Given the description of an element on the screen output the (x, y) to click on. 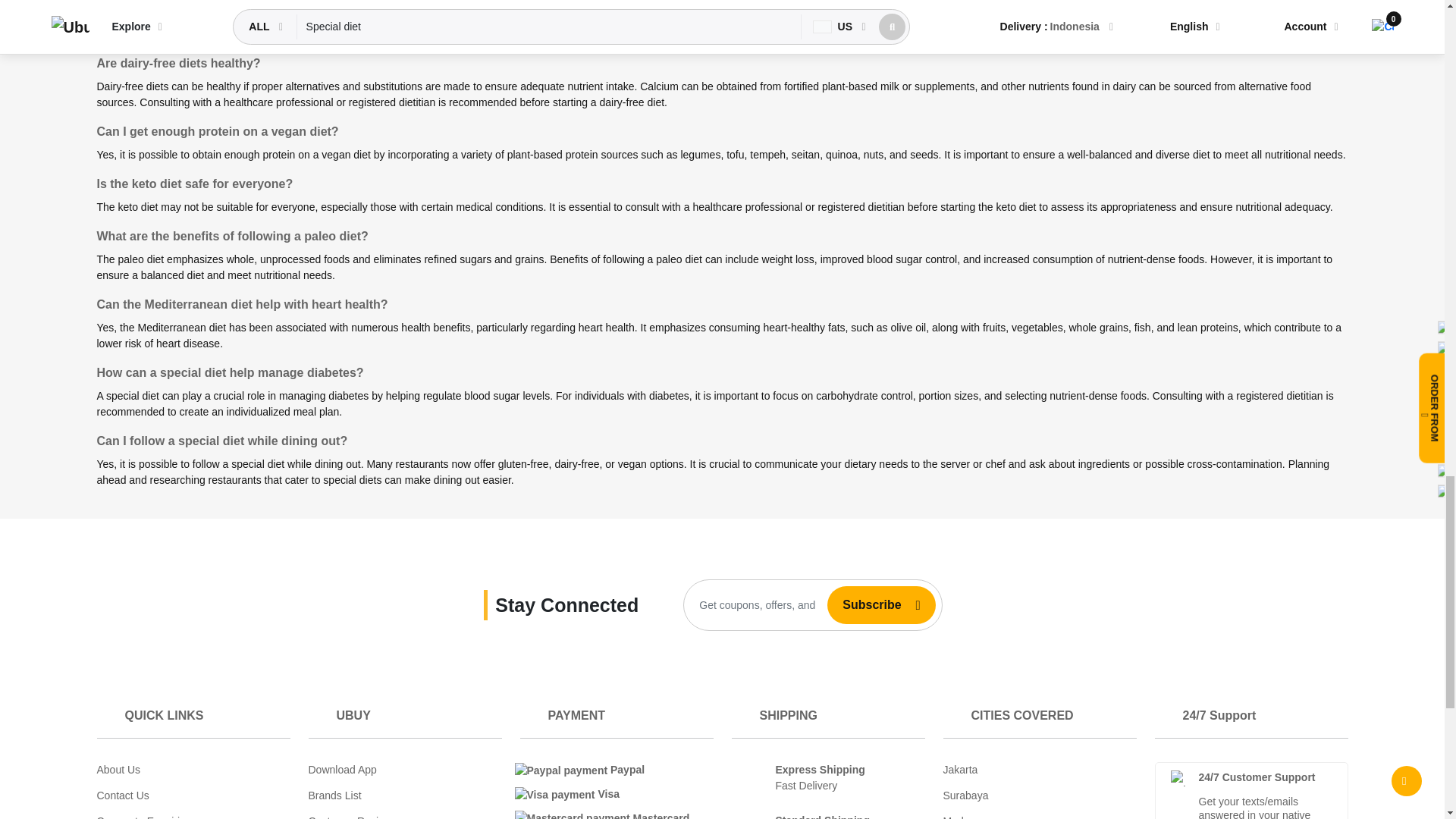
Subscribe (865, 604)
